Given the description of an element on the screen output the (x, y) to click on. 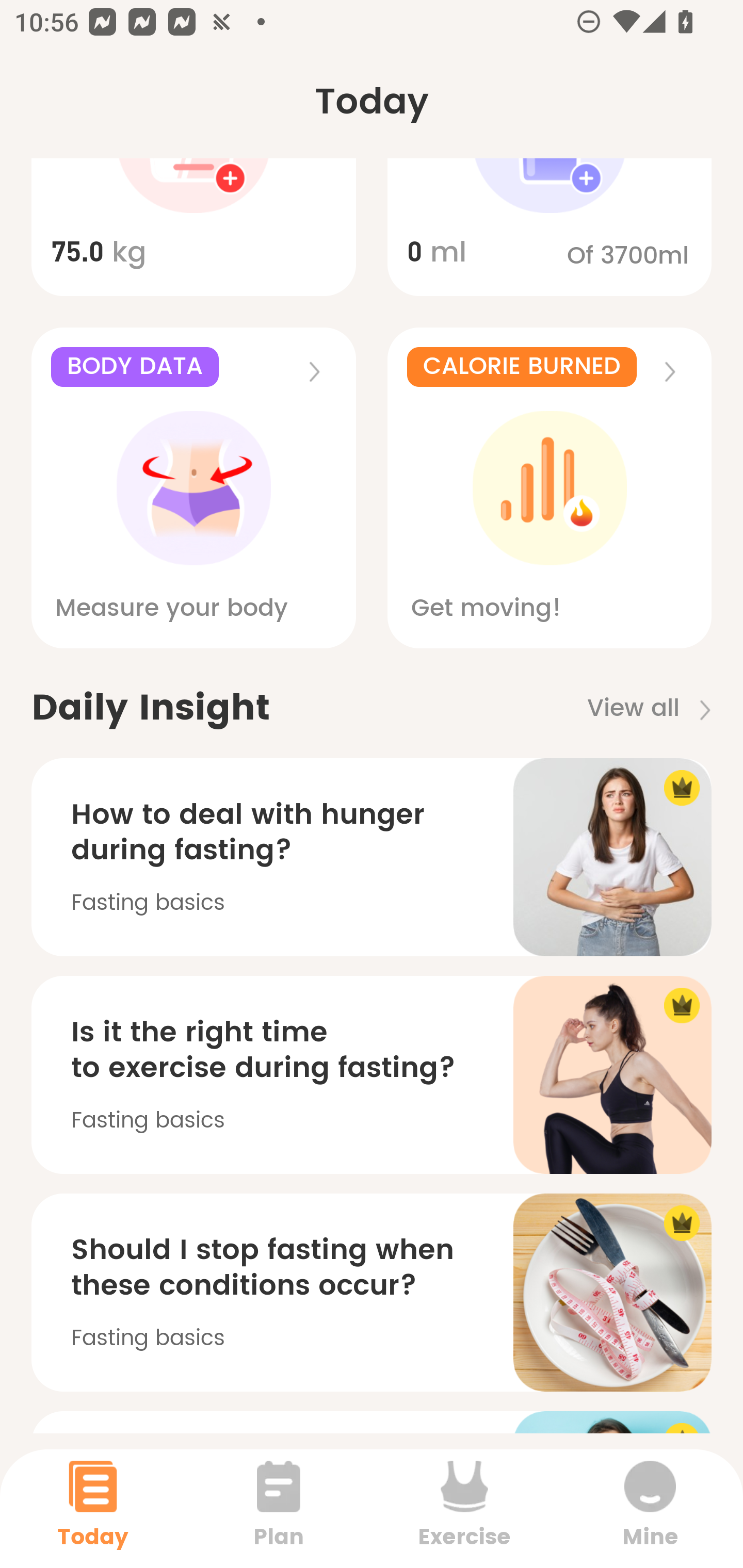
BODY DATA Measure your body (193, 487)
CALORIE BURNED Get moving! (549, 487)
View all (656, 708)
Plan (278, 1508)
Exercise (464, 1508)
Mine (650, 1508)
